Given the description of an element on the screen output the (x, y) to click on. 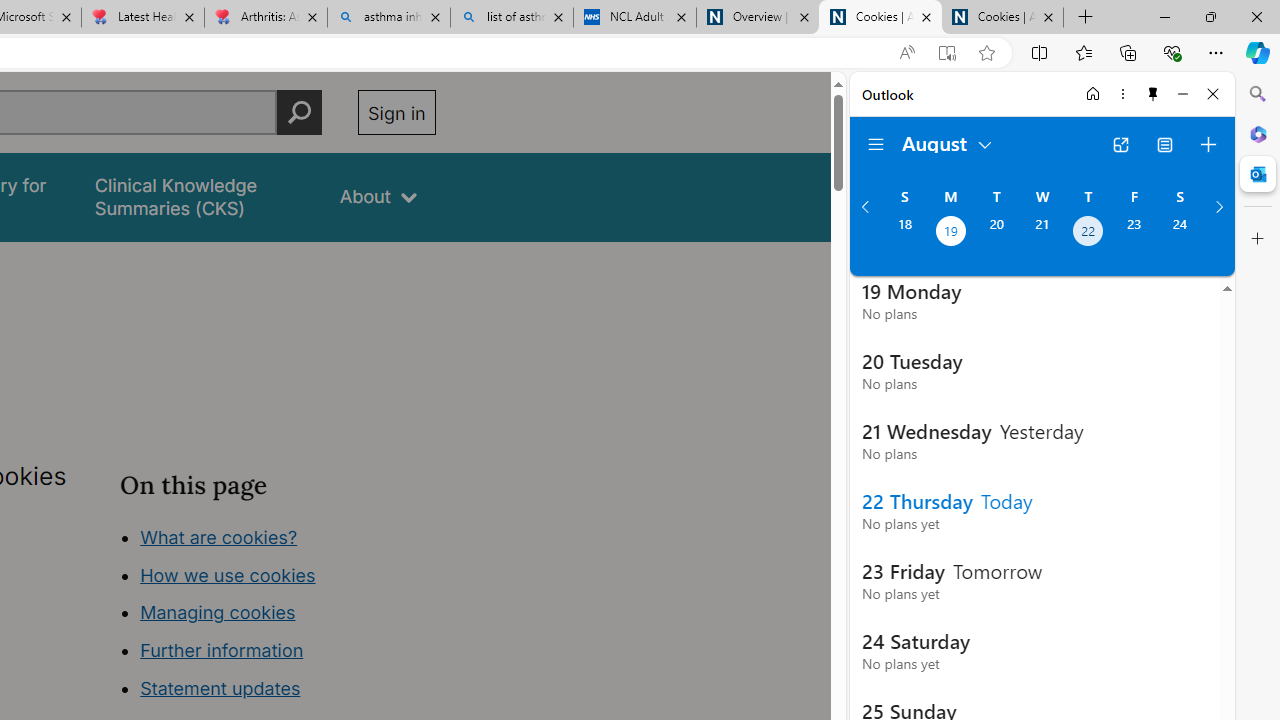
Close Customize pane (1258, 239)
Arthritis: Ask Health Professionals (265, 17)
About (378, 196)
Sign in (396, 112)
Enter Immersive Reader (F9) (946, 53)
Cookies | About | NICE (1002, 17)
How we use cookies (227, 574)
Monday, August 19, 2024. Date selected.  (950, 233)
Folder navigation (876, 144)
View Switcher. Current view is Agenda view (1165, 144)
